Given the description of an element on the screen output the (x, y) to click on. 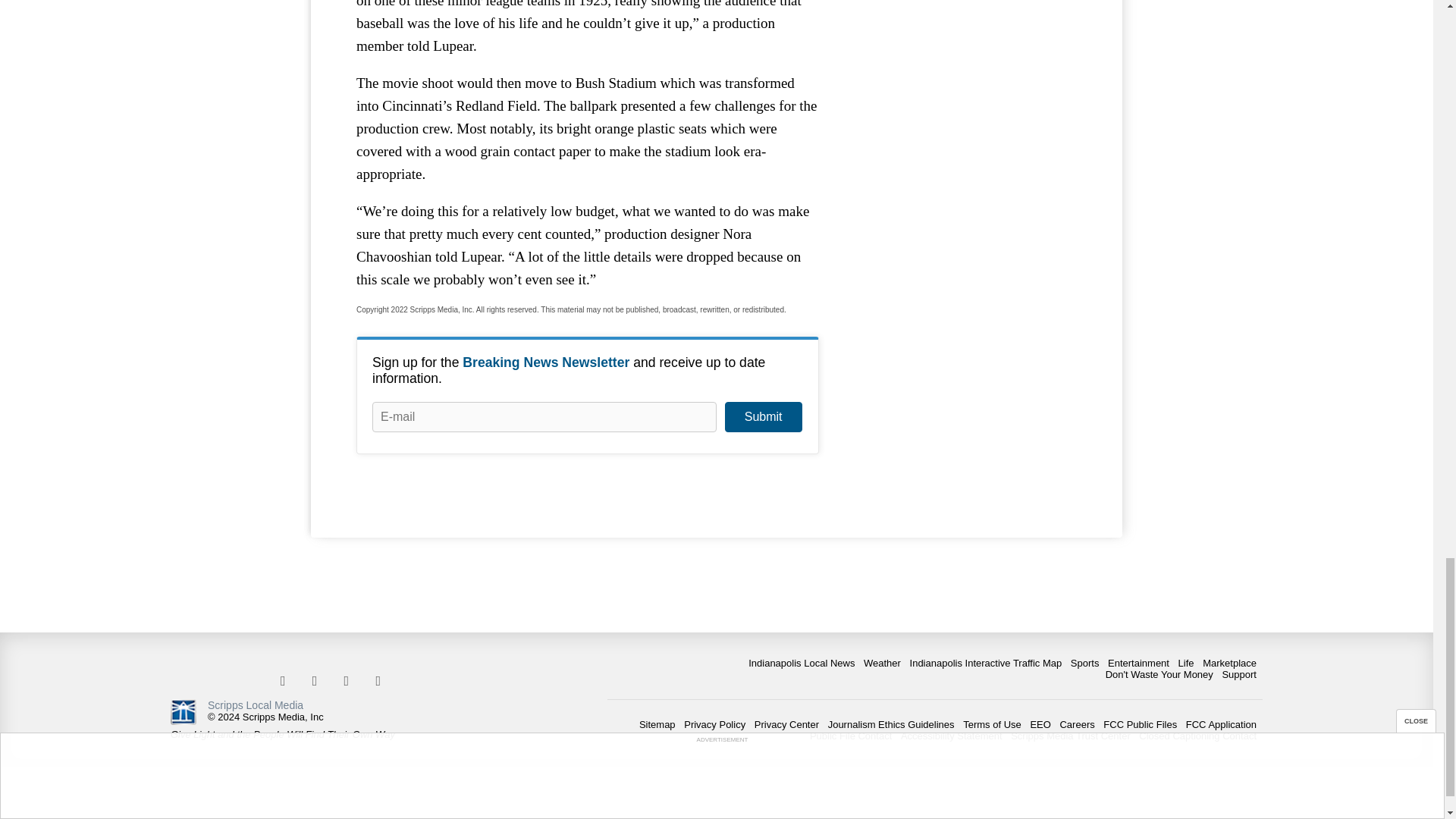
Submit (763, 417)
